Given the description of an element on the screen output the (x, y) to click on. 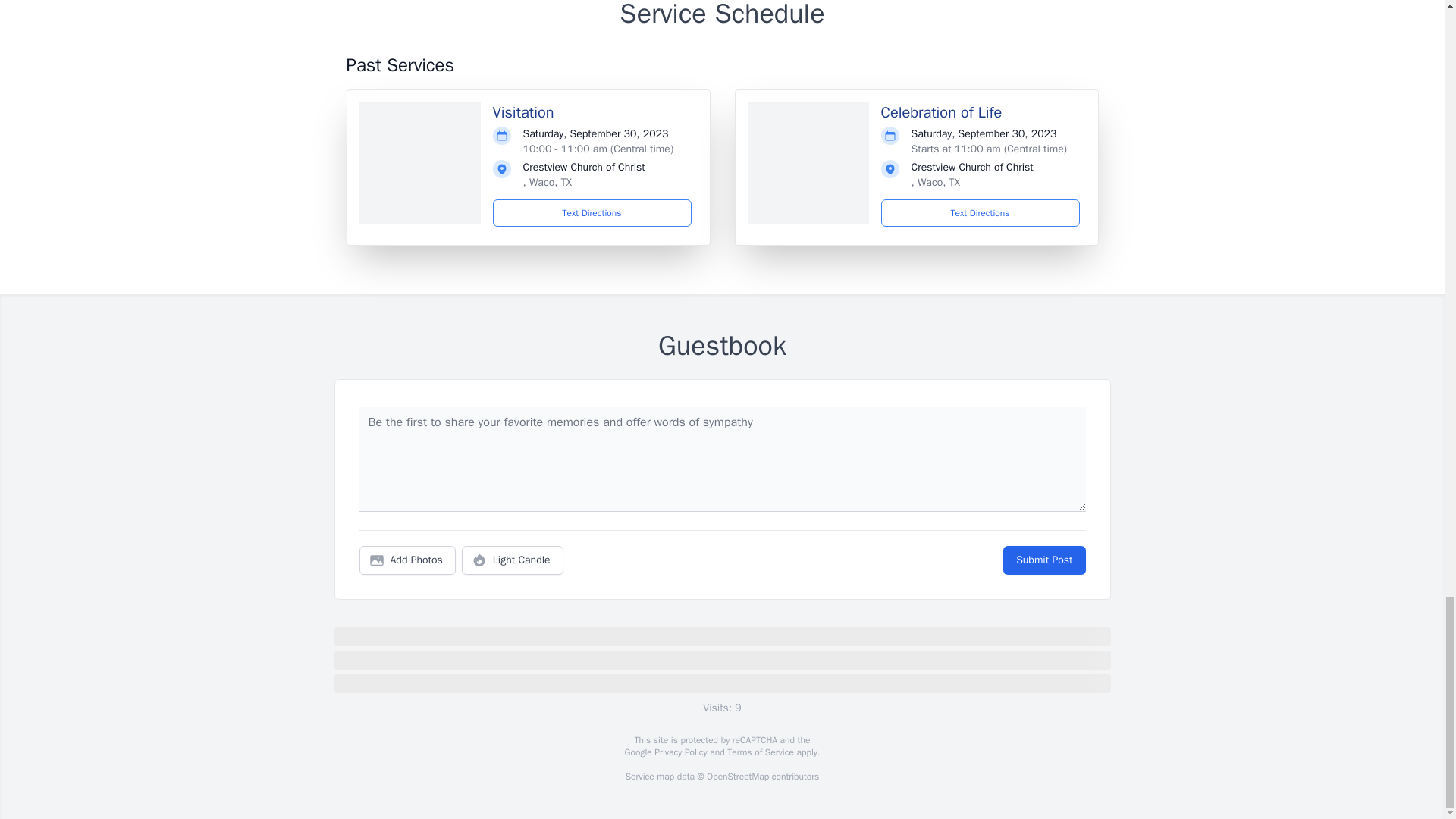
, Waco, TX (547, 182)
Light Candle (512, 560)
Text Directions (980, 212)
Privacy Policy (679, 752)
Add Photos (407, 560)
Text Directions (592, 212)
Terms of Service (759, 752)
Submit Post (1043, 560)
, Waco, TX (935, 182)
OpenStreetMap (737, 776)
